Given the description of an element on the screen output the (x, y) to click on. 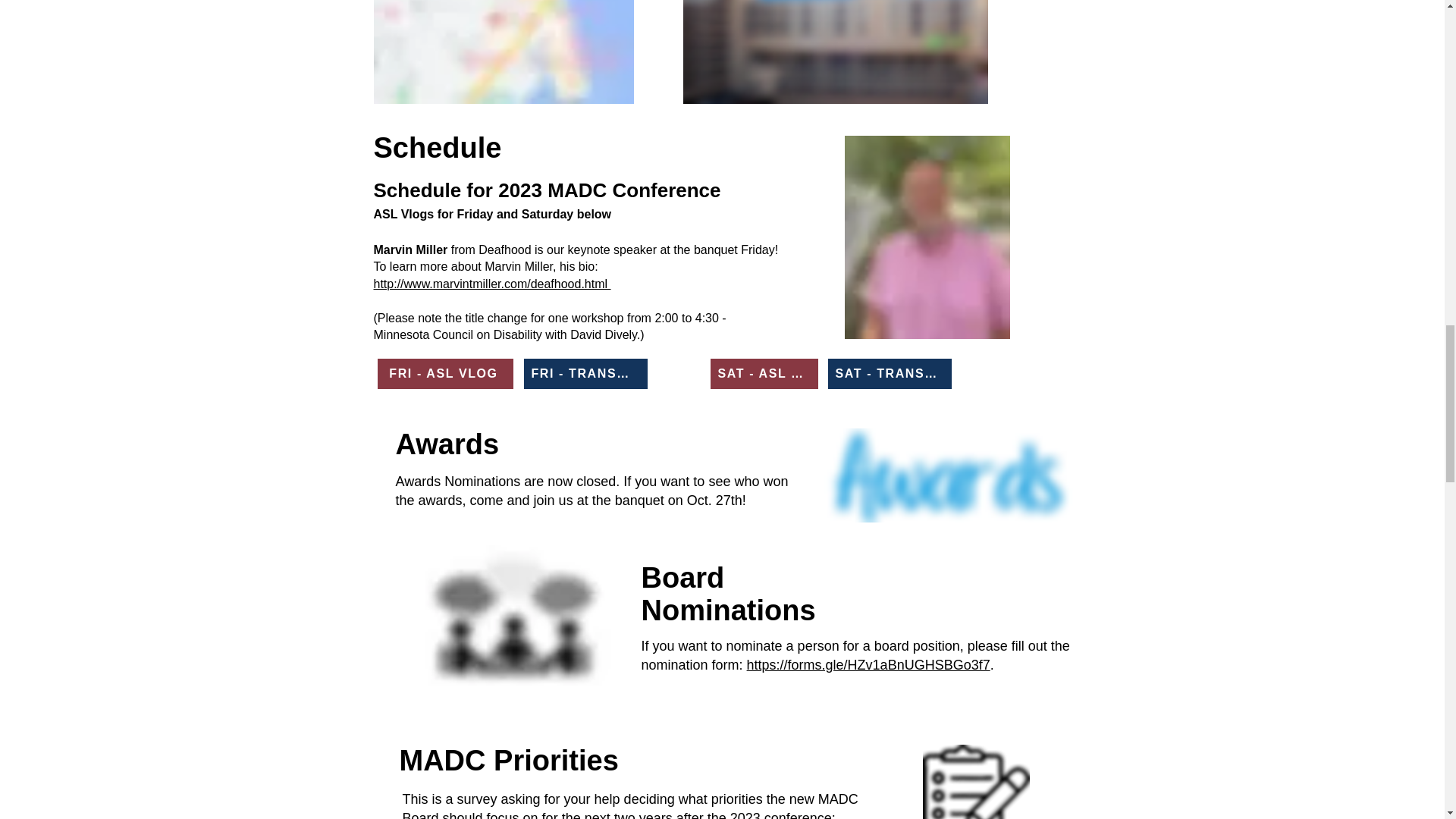
Clipboard-Checklist-Transparent-Backgrou (975, 781)
images.png (949, 475)
FRI - TRANSCRIPT (584, 373)
SAT - TRANSCRIPT (890, 373)
FRI - ASL VLOG (445, 373)
SAT - ASL VLOG (763, 373)
